Given the description of an element on the screen output the (x, y) to click on. 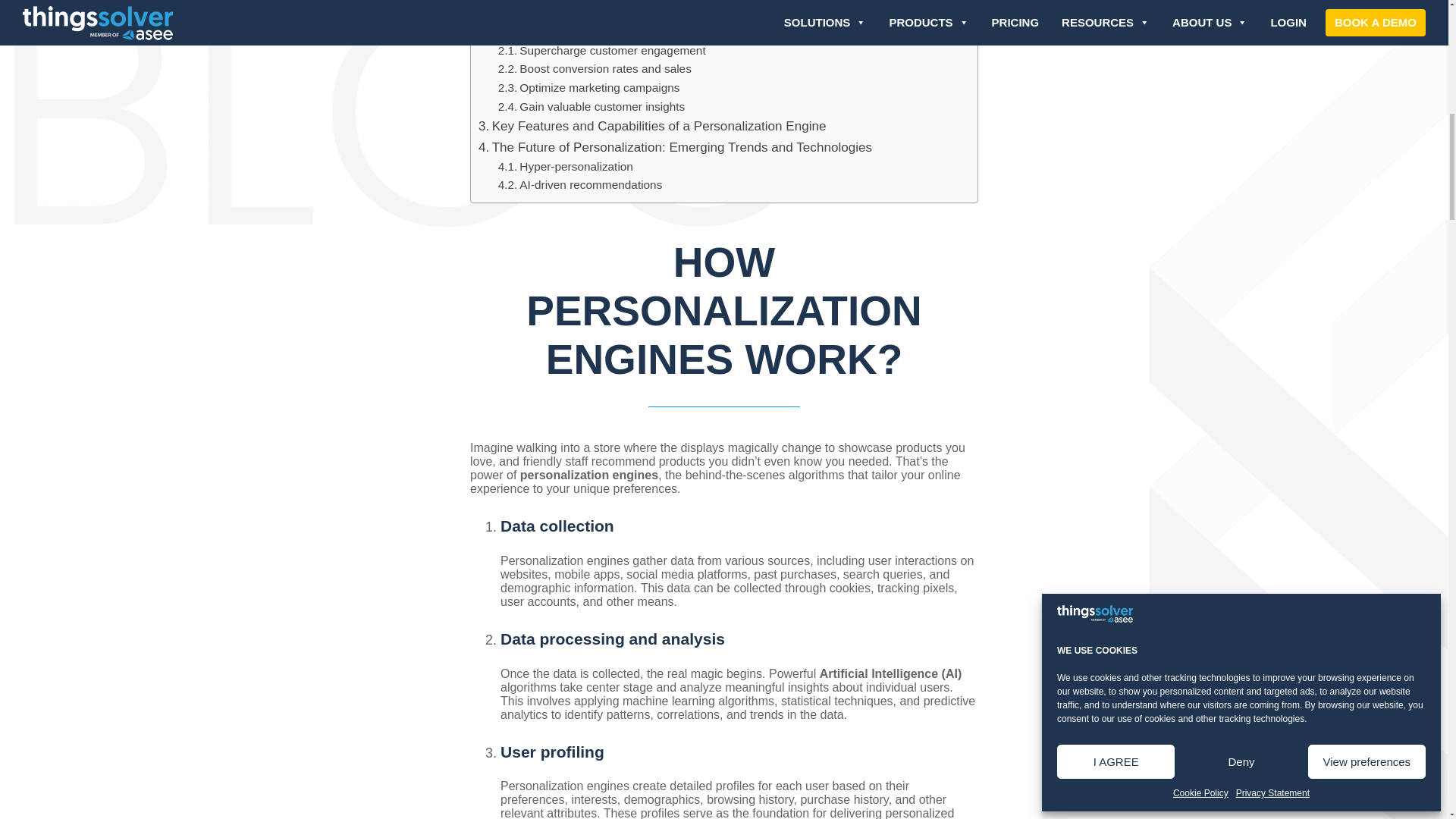
Supercharge customer engagement (601, 50)
Optimize marketing campaigns (588, 87)
Boost conversion rates and sales (594, 68)
Gain valuable customer insights (591, 107)
Key Features and Capabilities of a Personalization Engine (653, 126)
Hyper-personalization (565, 167)
